Given the description of an element on the screen output the (x, y) to click on. 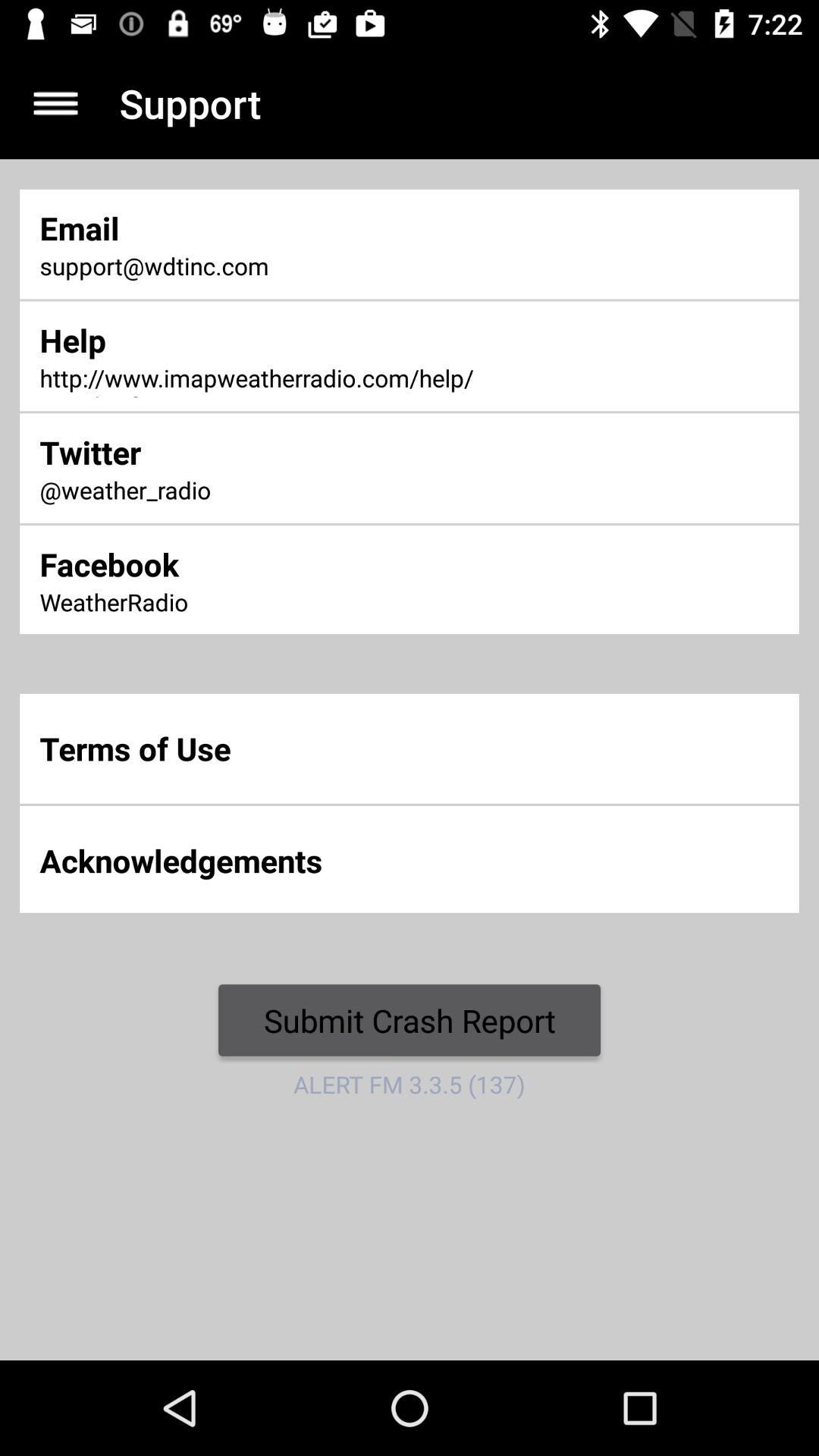
scroll to weatherradio icon (270, 603)
